Given the description of an element on the screen output the (x, y) to click on. 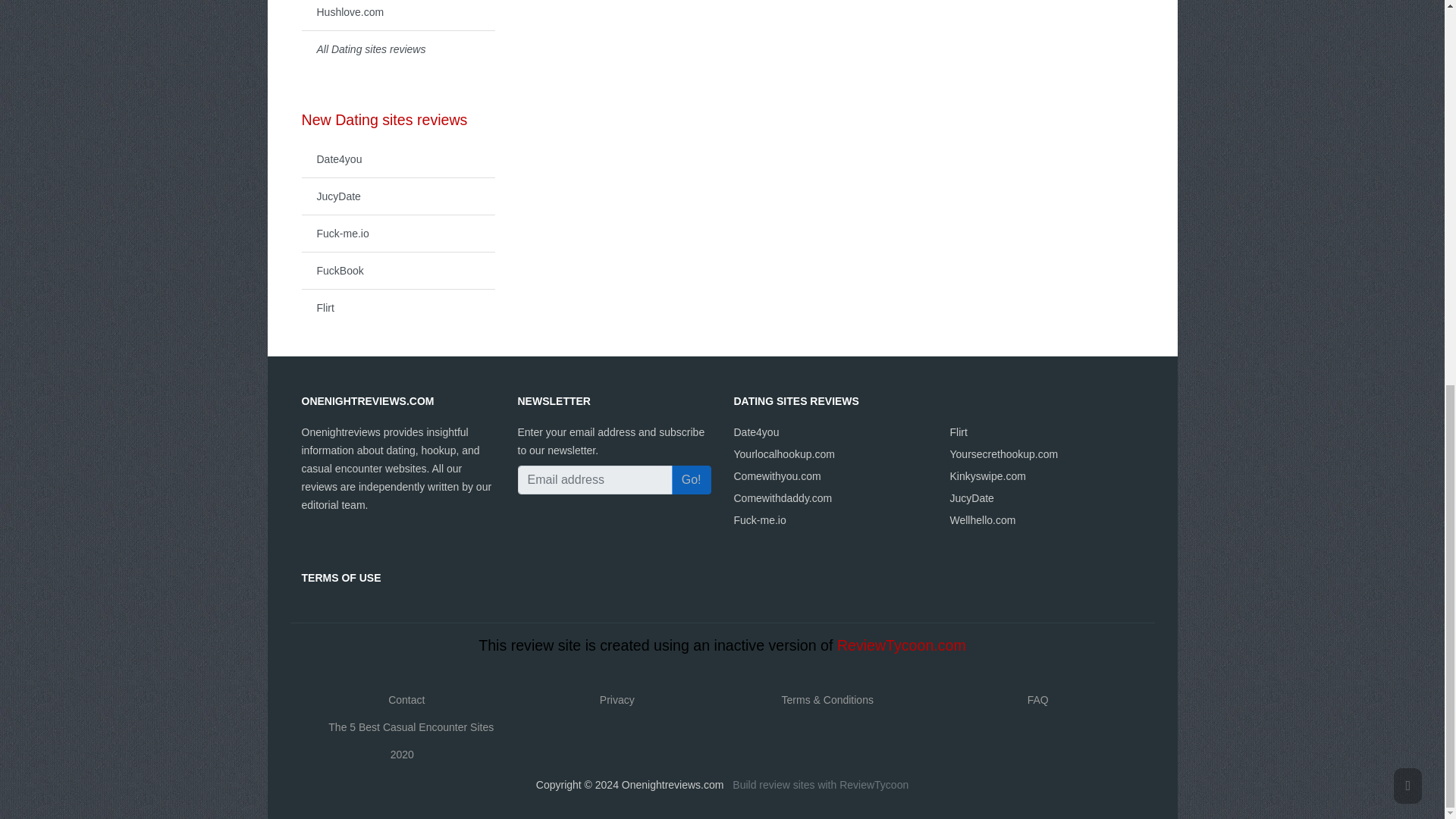
Fuck-me.io (759, 520)
Fuck-me.io (398, 232)
Go! (691, 480)
JucyDate (398, 195)
Comewithyou.com (777, 476)
Complete List (398, 48)
Yourlocalhookup.com (783, 453)
Date4you (398, 158)
Date4you (755, 431)
Go! (691, 480)
